Given the description of an element on the screen output the (x, y) to click on. 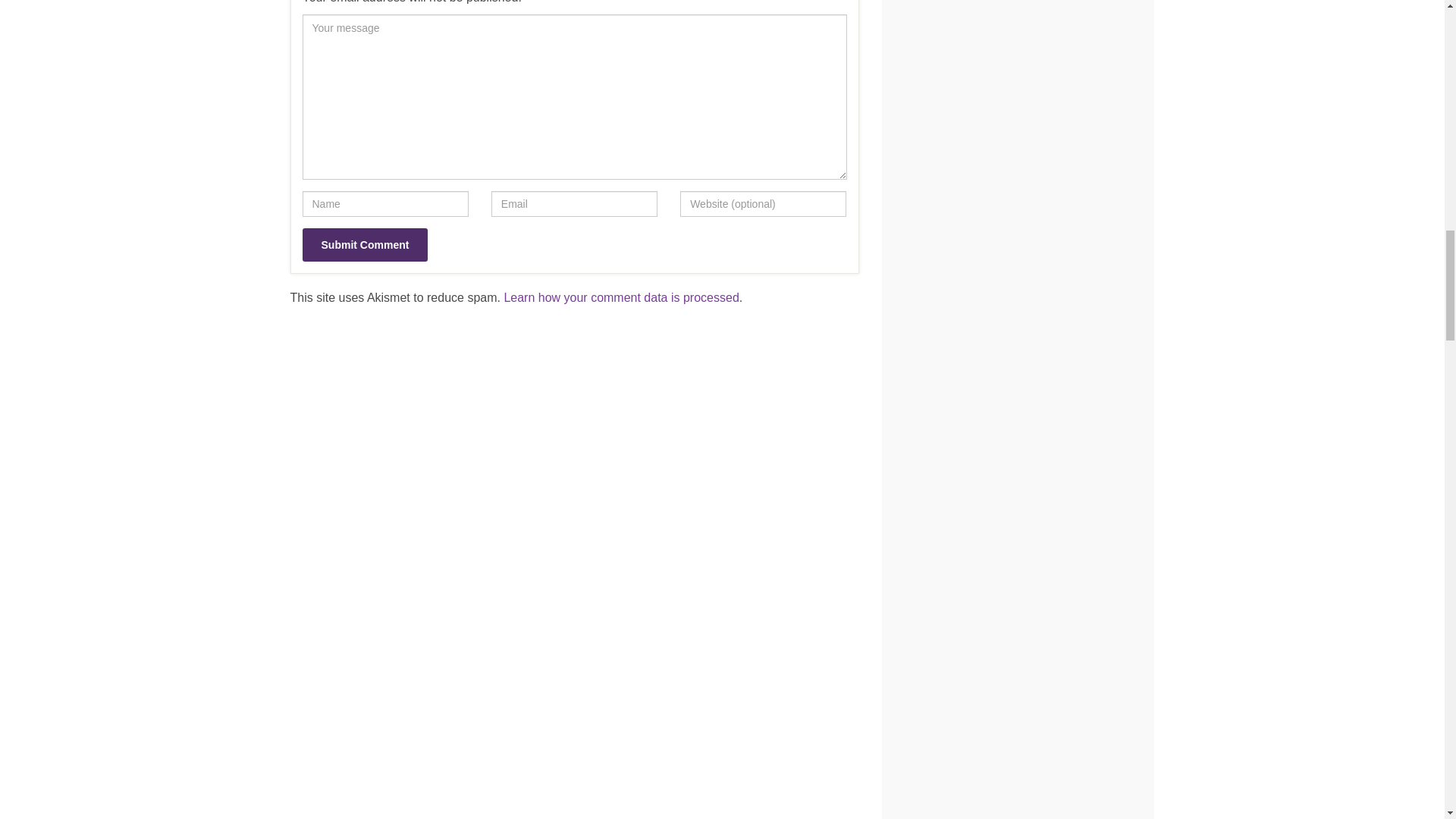
Submit Comment (364, 244)
Learn how your comment data is processed (620, 297)
Submit Comment (364, 244)
